Given the description of an element on the screen output the (x, y) to click on. 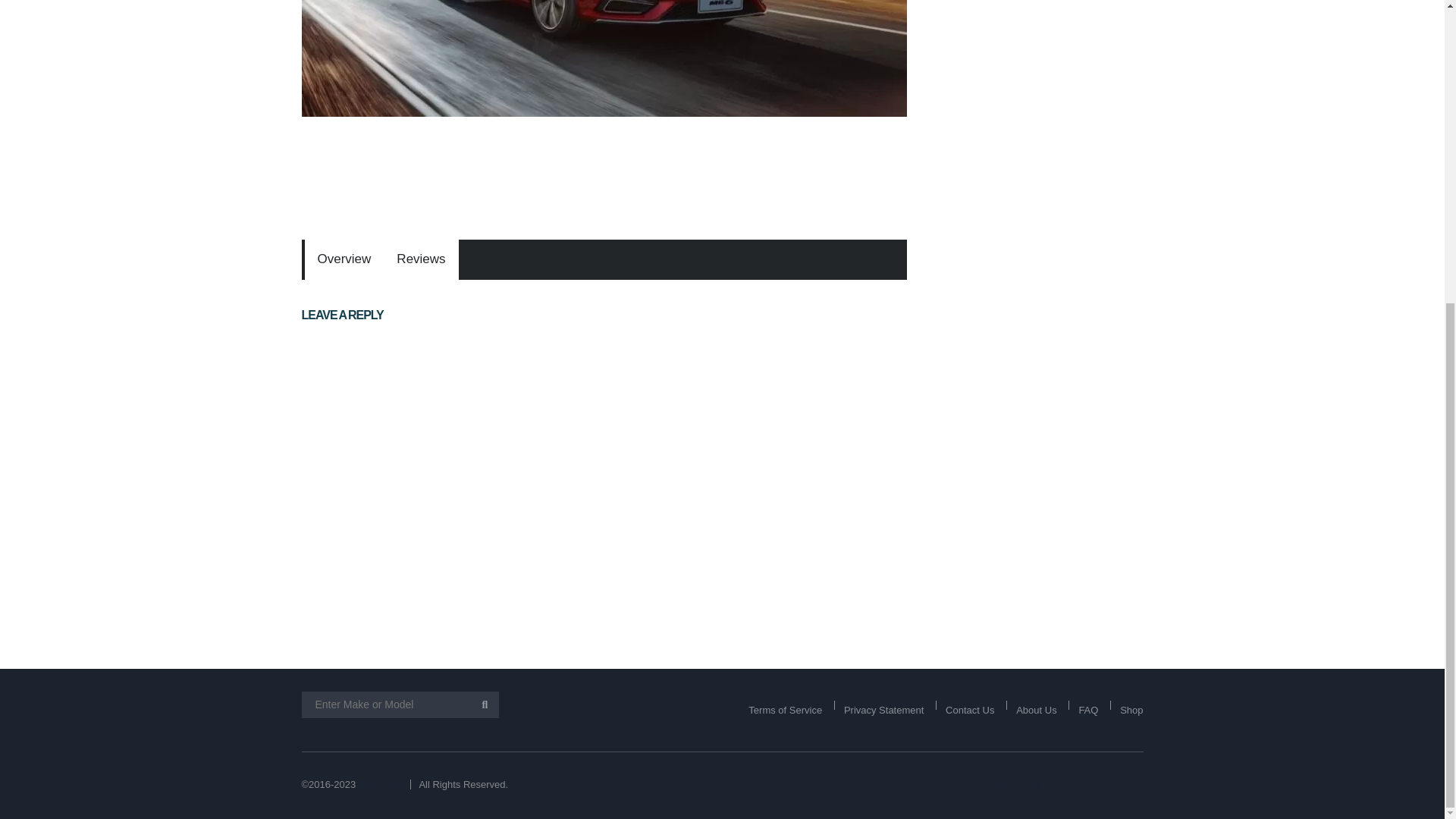
Overview (344, 259)
Reviews (421, 259)
